Given the description of an element on the screen output the (x, y) to click on. 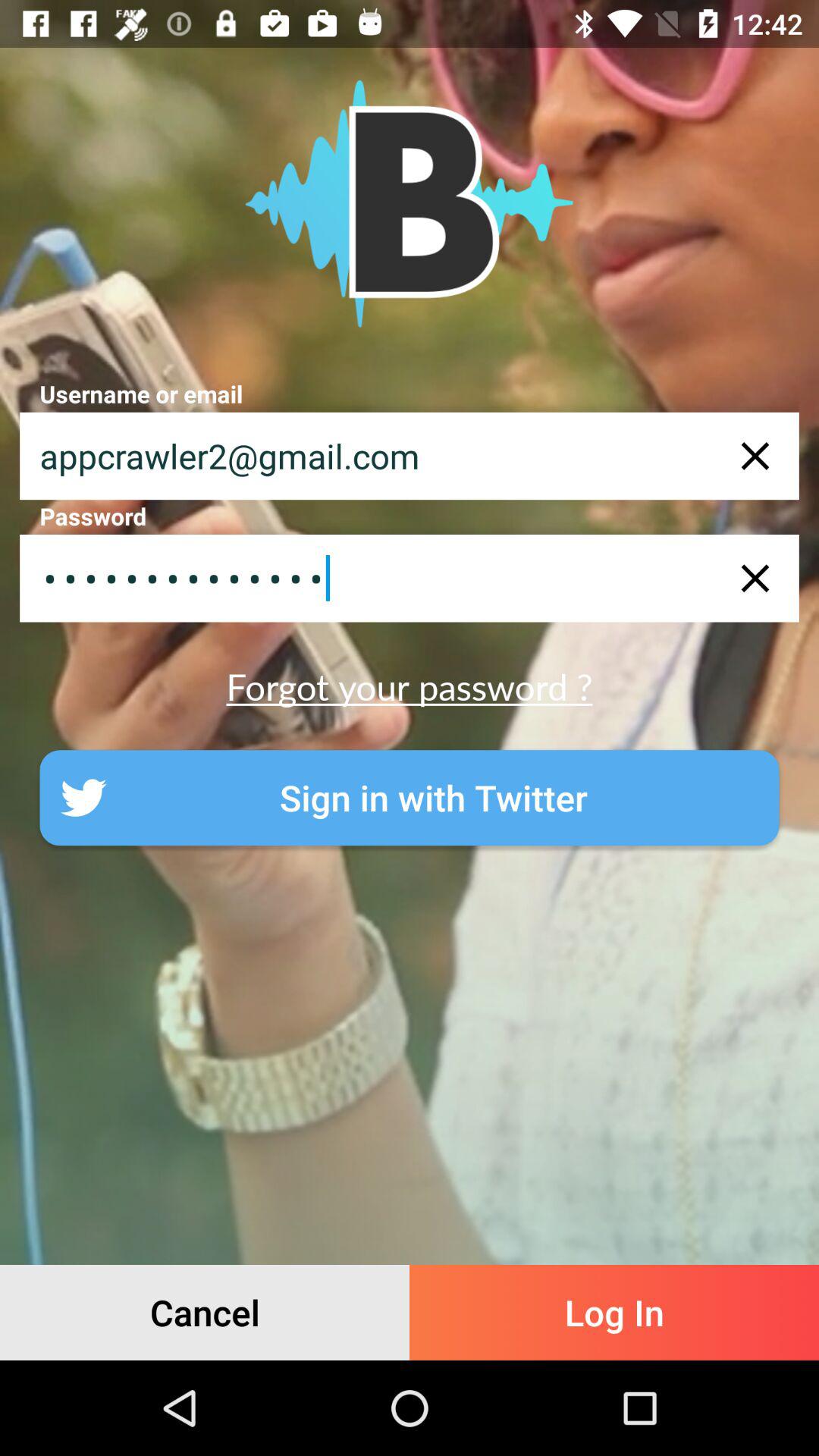
turn off the item next to the log in (204, 1312)
